Given the description of an element on the screen output the (x, y) to click on. 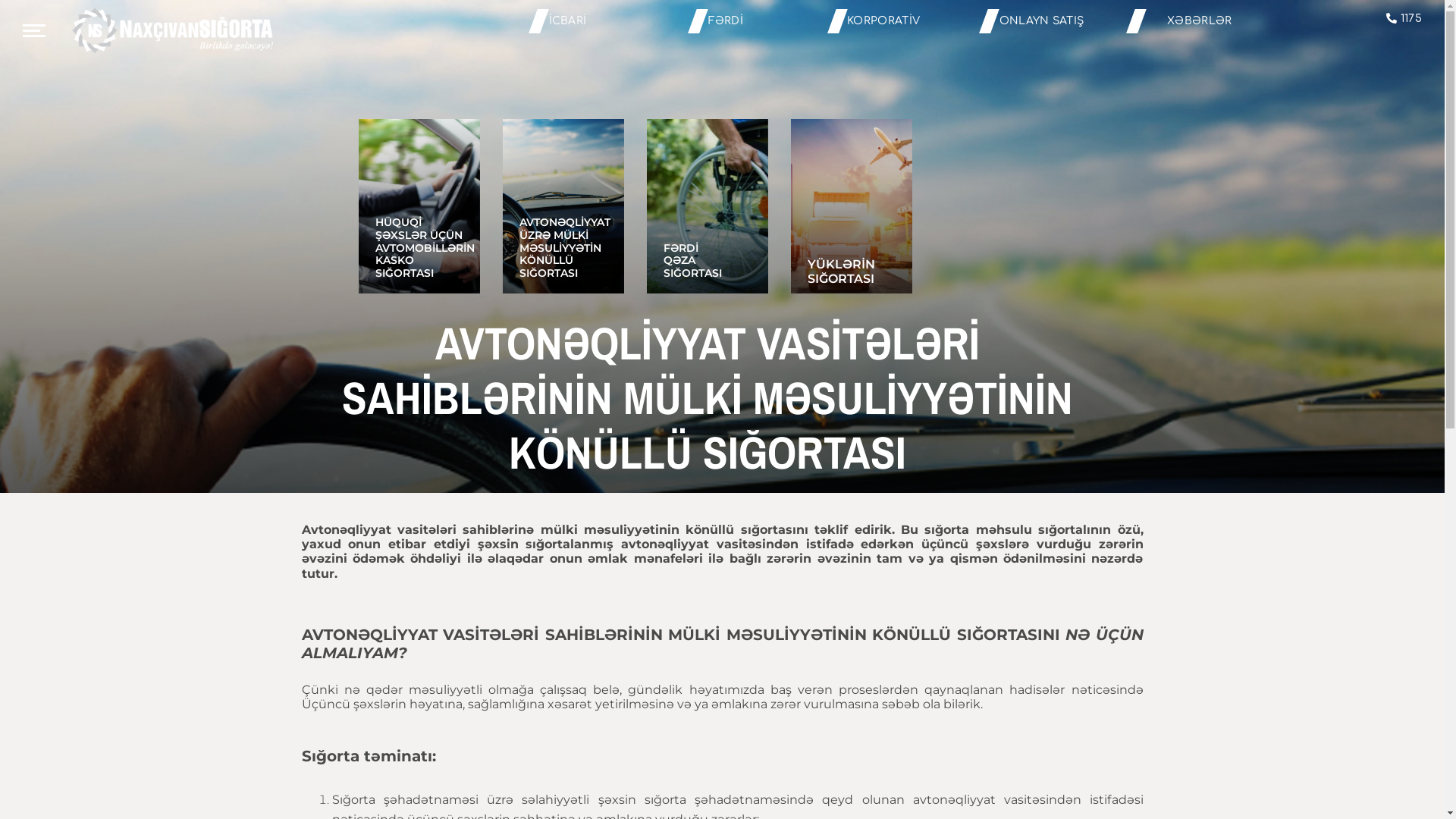
1175 Element type: text (1403, 18)
